Given the description of an element on the screen output the (x, y) to click on. 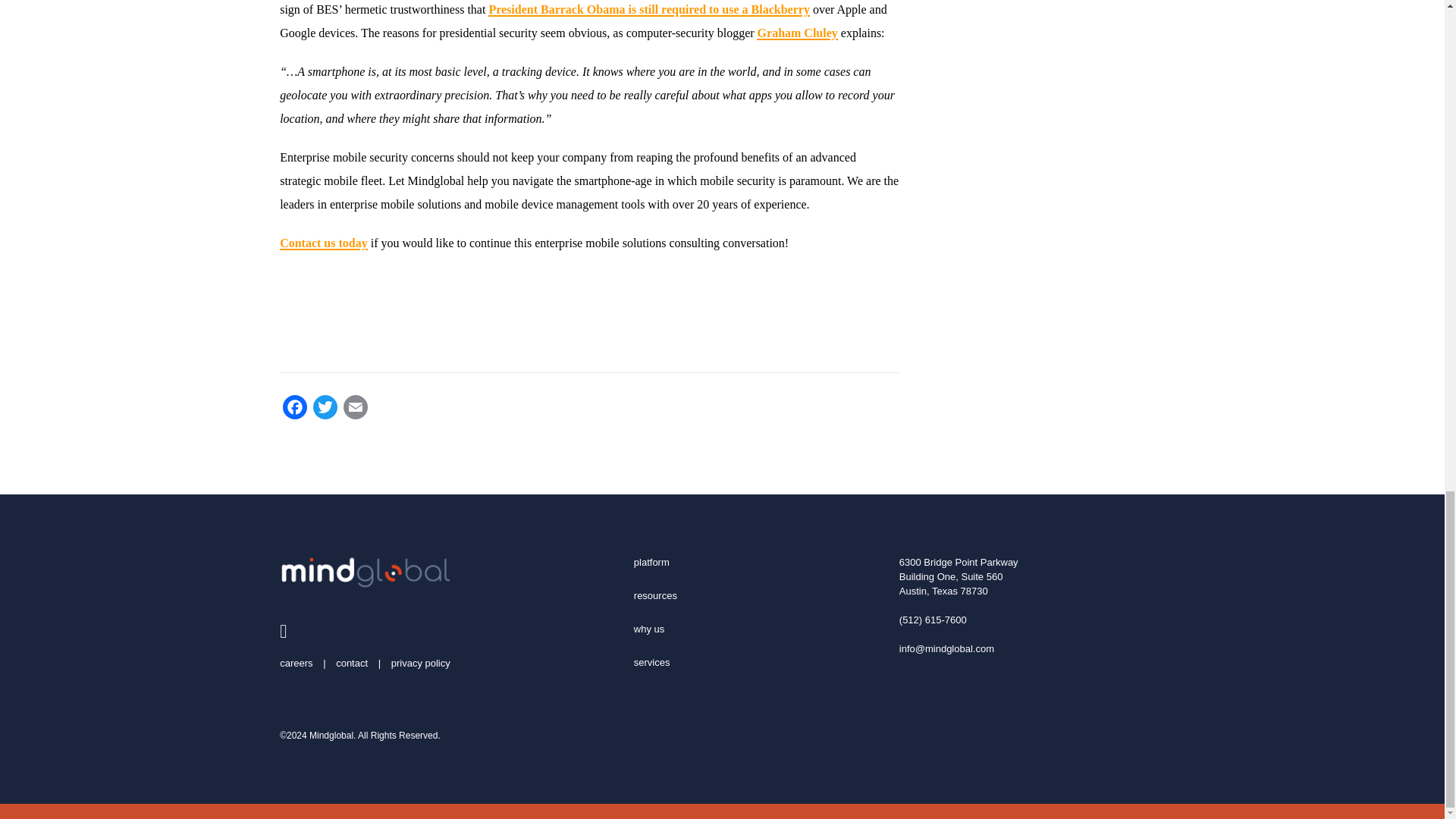
Twitter (325, 408)
Facebook (294, 408)
Email (355, 408)
Facebook (294, 408)
why us (648, 628)
services (651, 662)
Graham Cluley (797, 31)
resources (655, 595)
contact (352, 663)
Twitter (325, 408)
careers (296, 663)
privacy policy (420, 663)
platform (651, 562)
Email (355, 408)
